Given the description of an element on the screen output the (x, y) to click on. 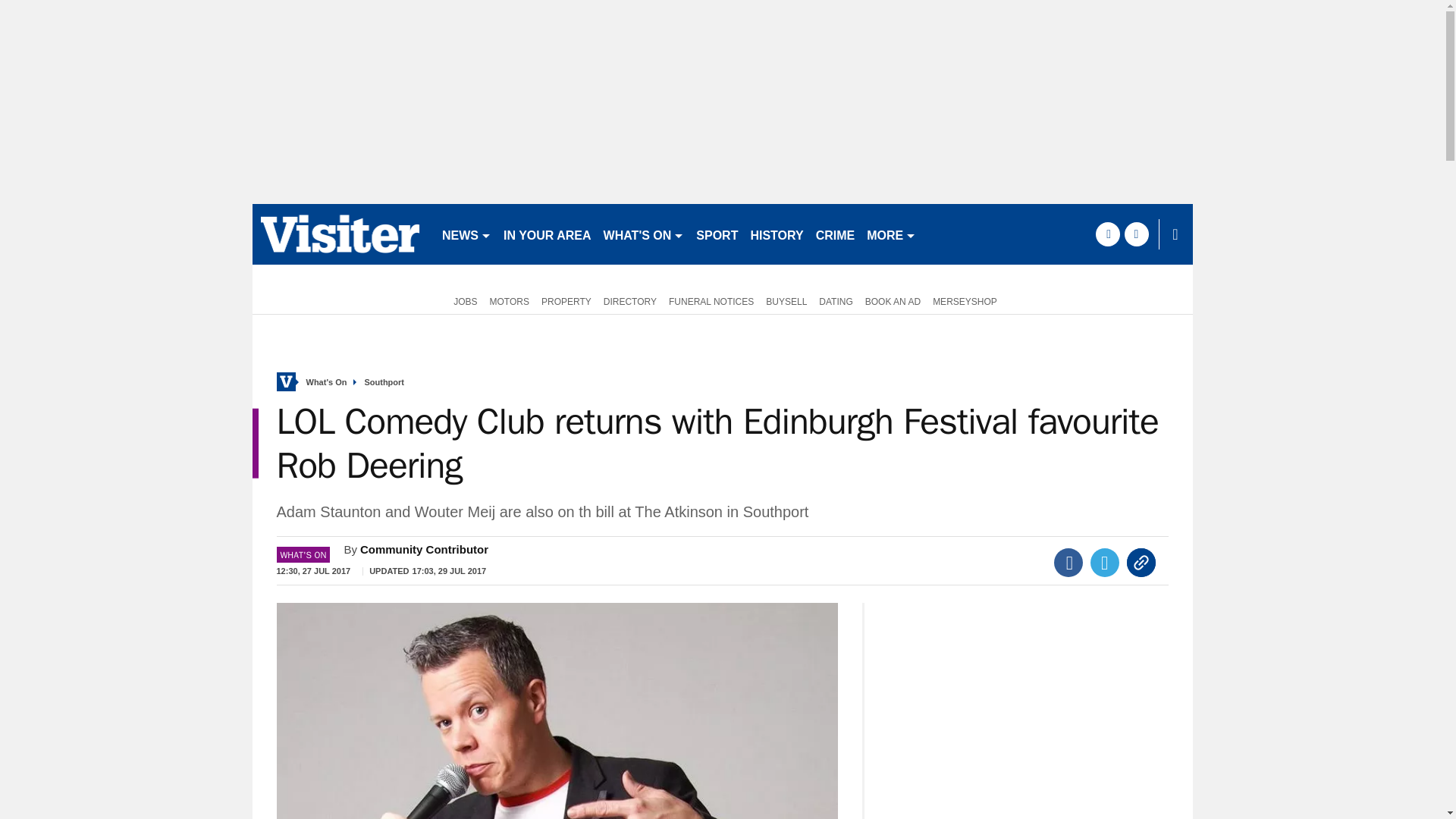
BUYSELL (786, 300)
FUNERAL NOTICES (711, 300)
MERSEYSHOP (964, 300)
MOTORS (509, 300)
MORE (890, 233)
southportvisiter (339, 233)
Facebook (1068, 562)
WHAT'S ON (643, 233)
HISTORY (776, 233)
BOOK AN AD (892, 300)
